Given the description of an element on the screen output the (x, y) to click on. 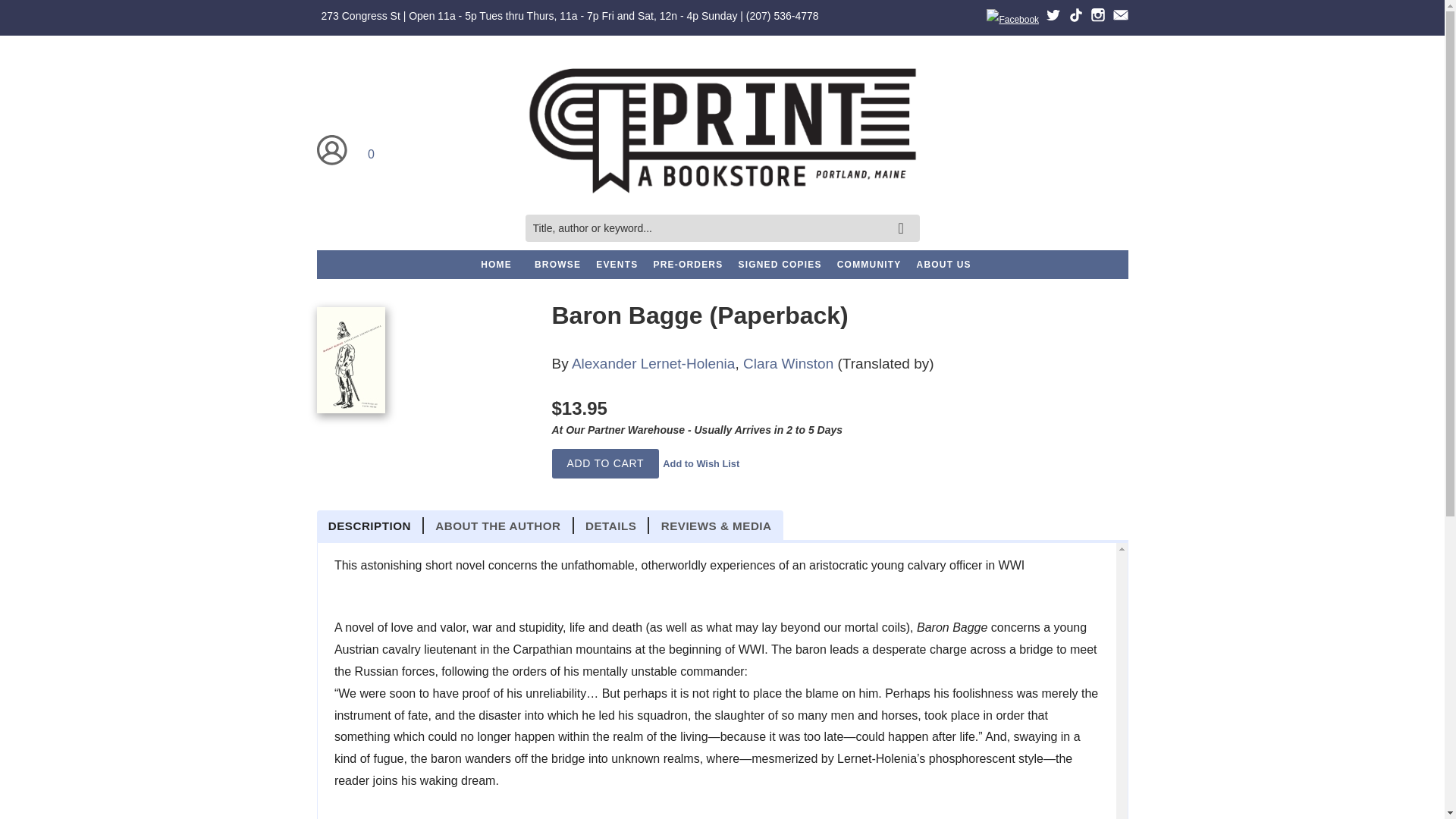
search (903, 216)
EVENTS (616, 264)
BROWSE (557, 264)
HOME (496, 264)
SIGNED COPIES (779, 264)
Title, author or keyword... (721, 228)
search (903, 216)
PRE-ORDERS (687, 264)
Home (721, 130)
COMMUNITY (868, 264)
Add to Cart (605, 463)
